Given the description of an element on the screen output the (x, y) to click on. 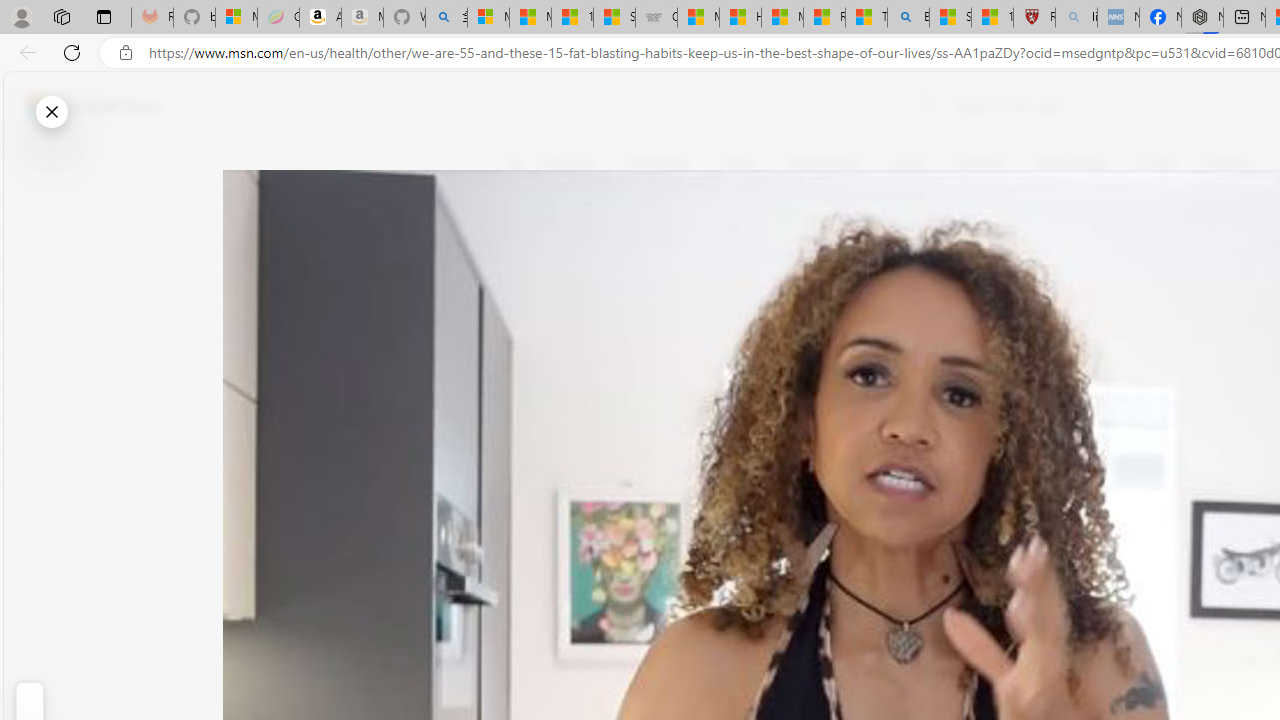
Class: at-item (525, 468)
6 Like (525, 244)
